Given the description of an element on the screen output the (x, y) to click on. 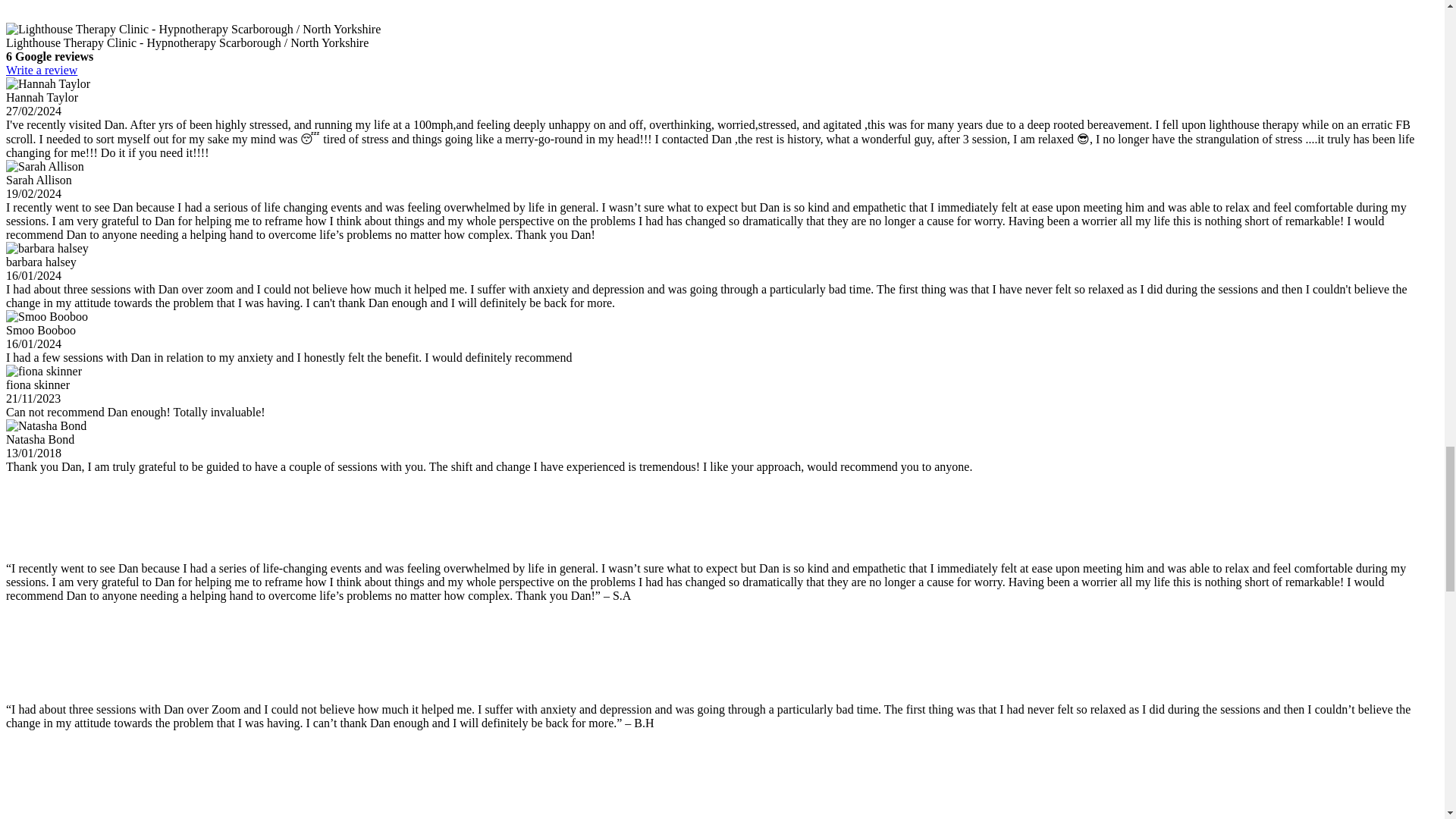
Write a review (41, 69)
